Given the description of an element on the screen output the (x, y) to click on. 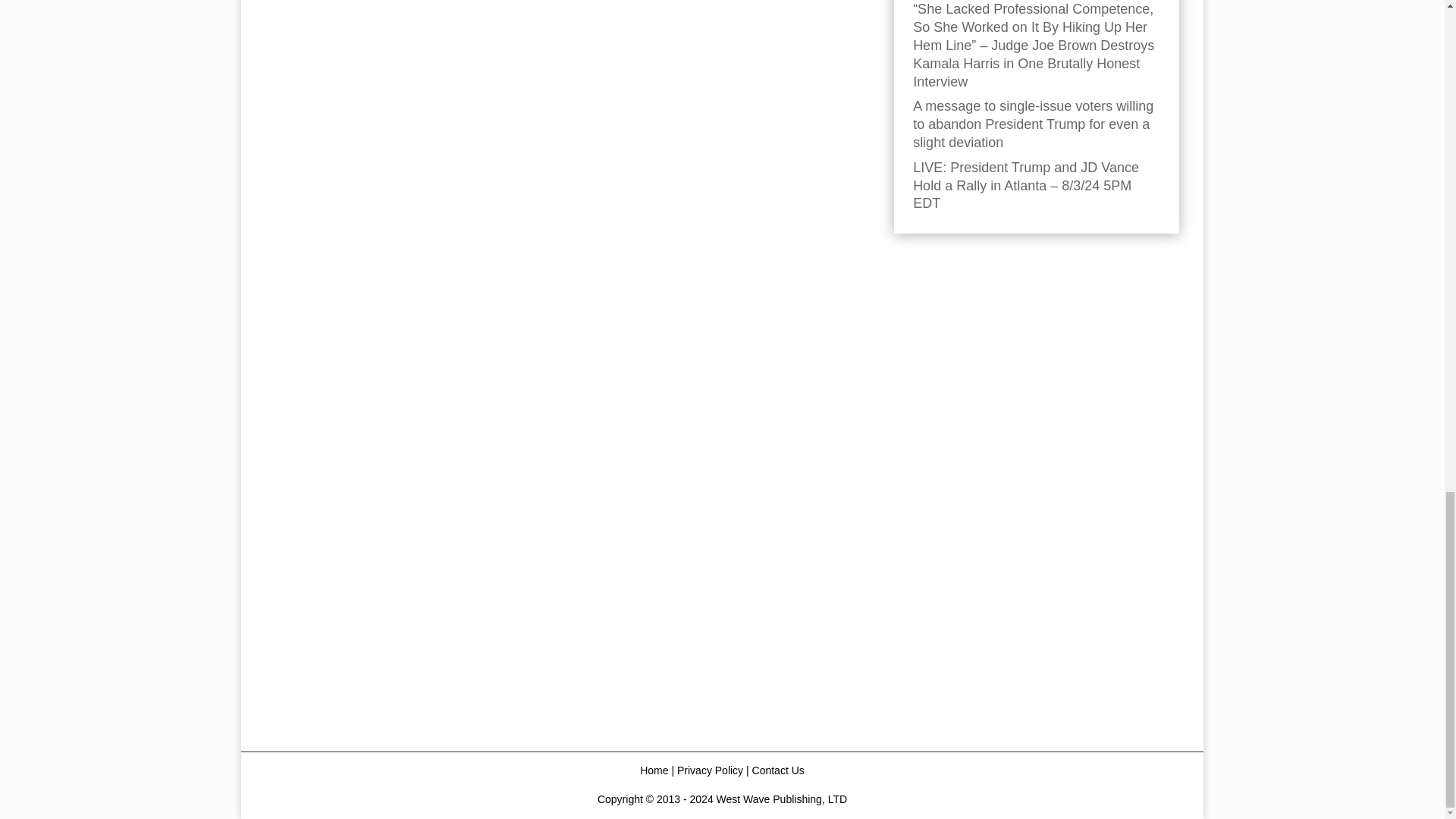
Home (654, 770)
Contact Us (778, 770)
Privacy Policy (709, 770)
